Given the description of an element on the screen output the (x, y) to click on. 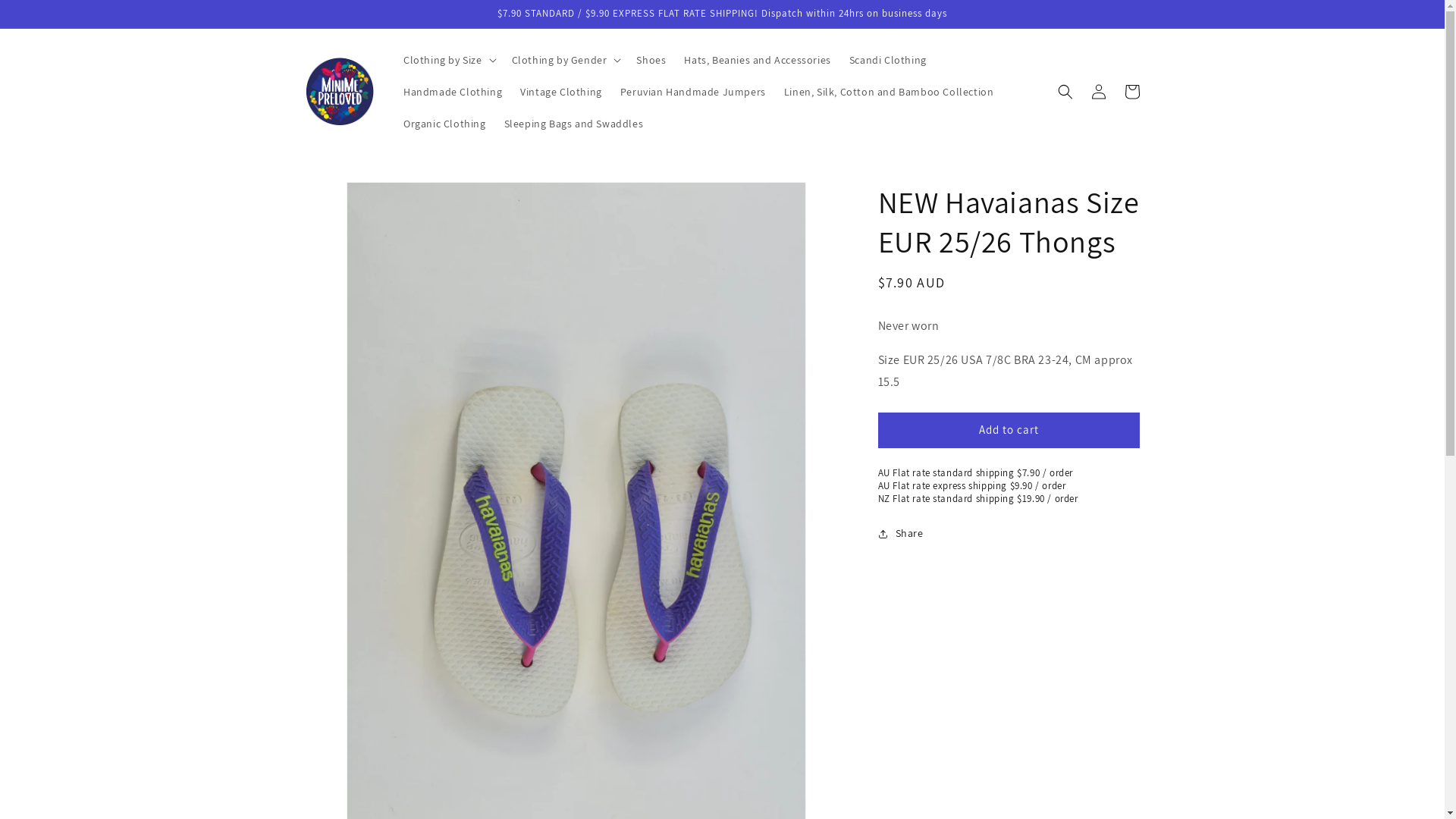
Hats, Beanies and Accessories Element type: text (756, 59)
Handmade Clothing Element type: text (452, 91)
Linen, Silk, Cotton and Bamboo Collection Element type: text (889, 91)
Cart Element type: text (1131, 91)
Shoes Element type: text (650, 59)
Add to cart Element type: text (1008, 430)
Sleeping Bags and Swaddles Element type: text (573, 123)
Peruvian Handmade Jumpers Element type: text (693, 91)
Vintage Clothing Element type: text (561, 91)
Organic Clothing Element type: text (444, 123)
Scandi Clothing Element type: text (887, 59)
Skip to product information Element type: text (350, 198)
Log in Element type: text (1097, 91)
